Given the description of an element on the screen output the (x, y) to click on. 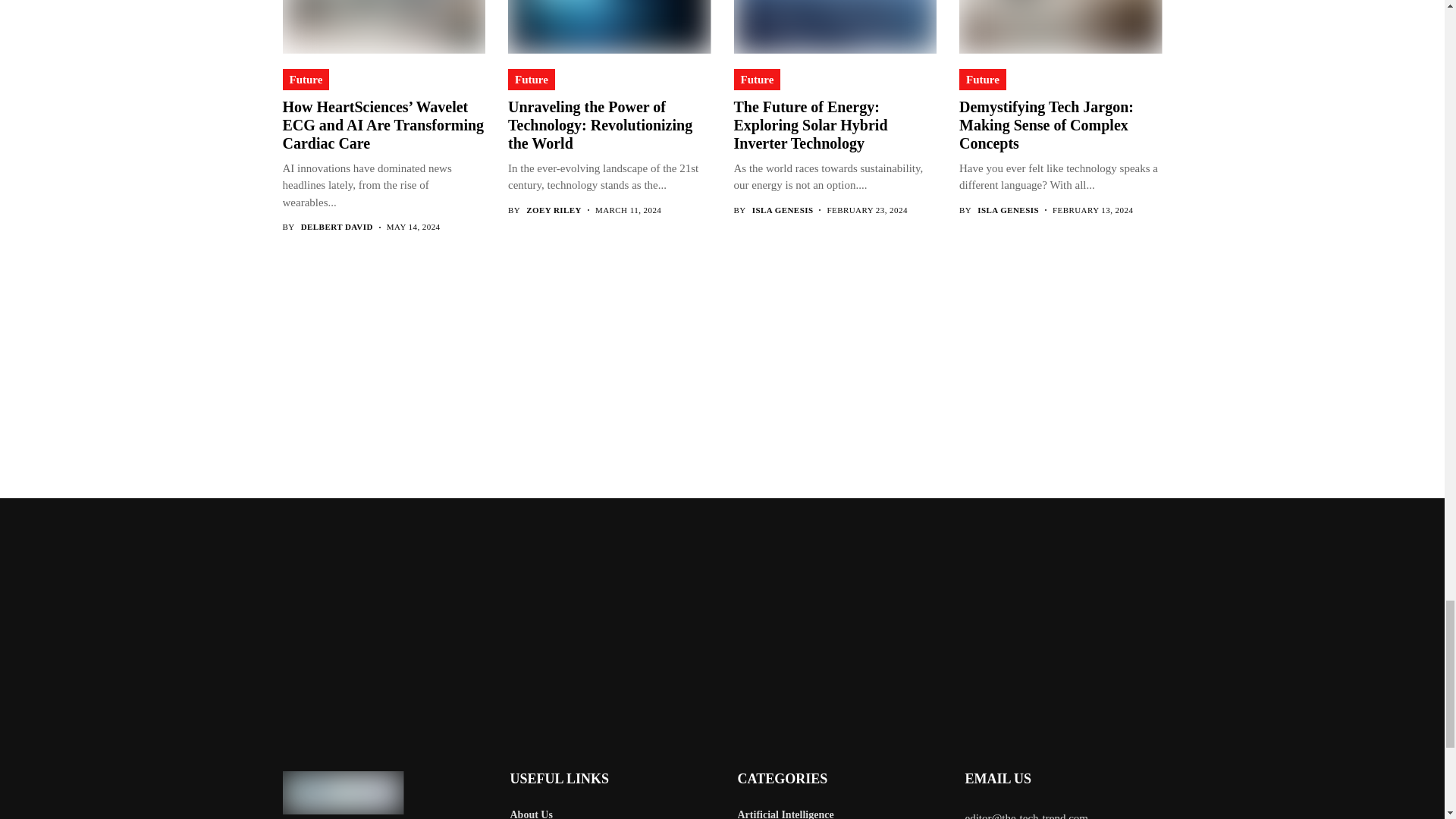
Posts by Delbert David (336, 226)
Posts by Isla Genesis (782, 210)
Posts by Zoey Riley (552, 210)
Posts by Isla Genesis (1007, 210)
